Given the description of an element on the screen output the (x, y) to click on. 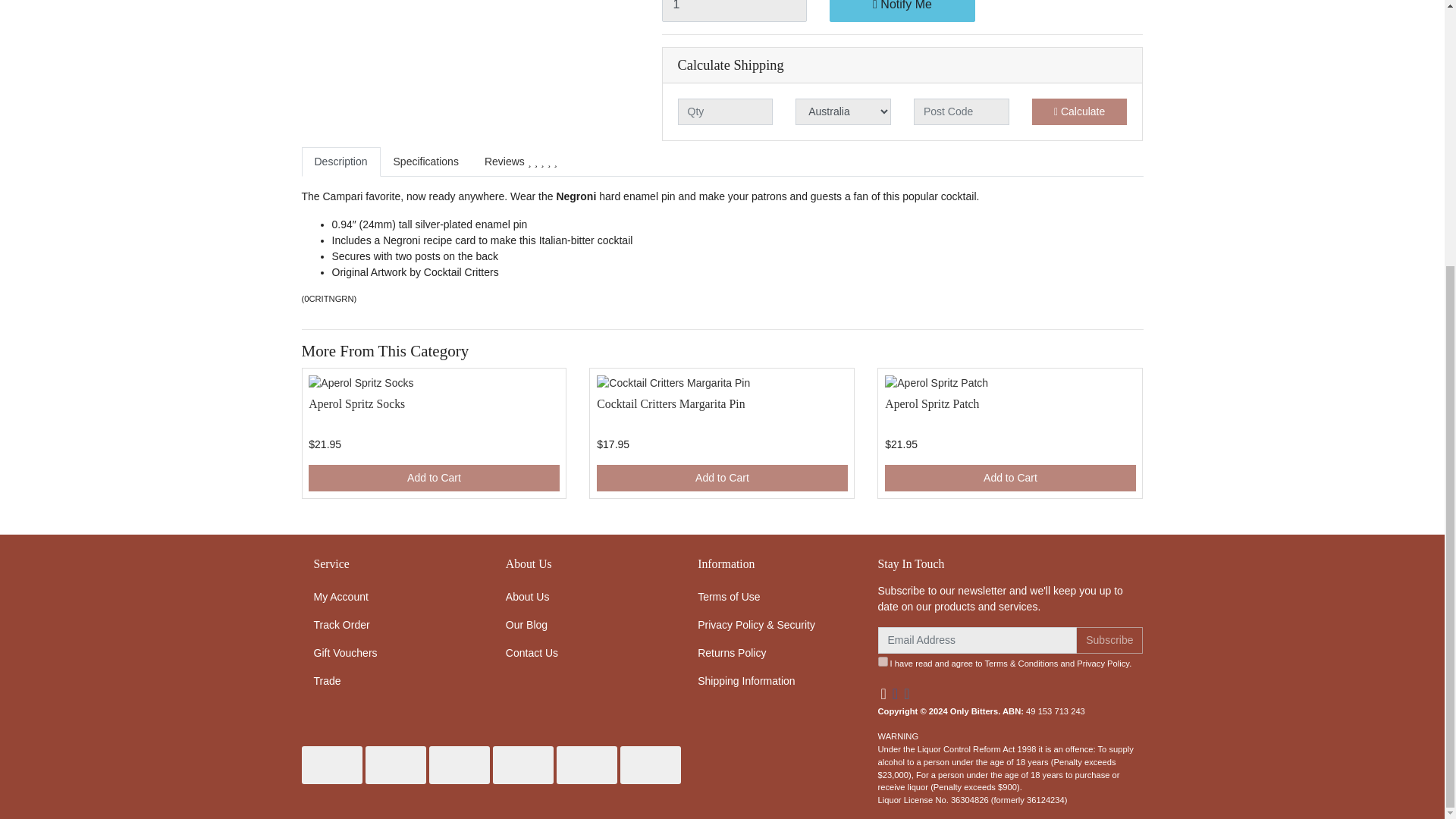
y (882, 661)
Add Aperol Spritz Socks to Cart (433, 478)
Add Aperol Spritz Patch to Cart (1010, 478)
Calculate (1079, 111)
Subscribe (1108, 640)
Add Cocktail Critters Margarita Pin to Cart (721, 478)
1 (733, 10)
